Given the description of an element on the screen output the (x, y) to click on. 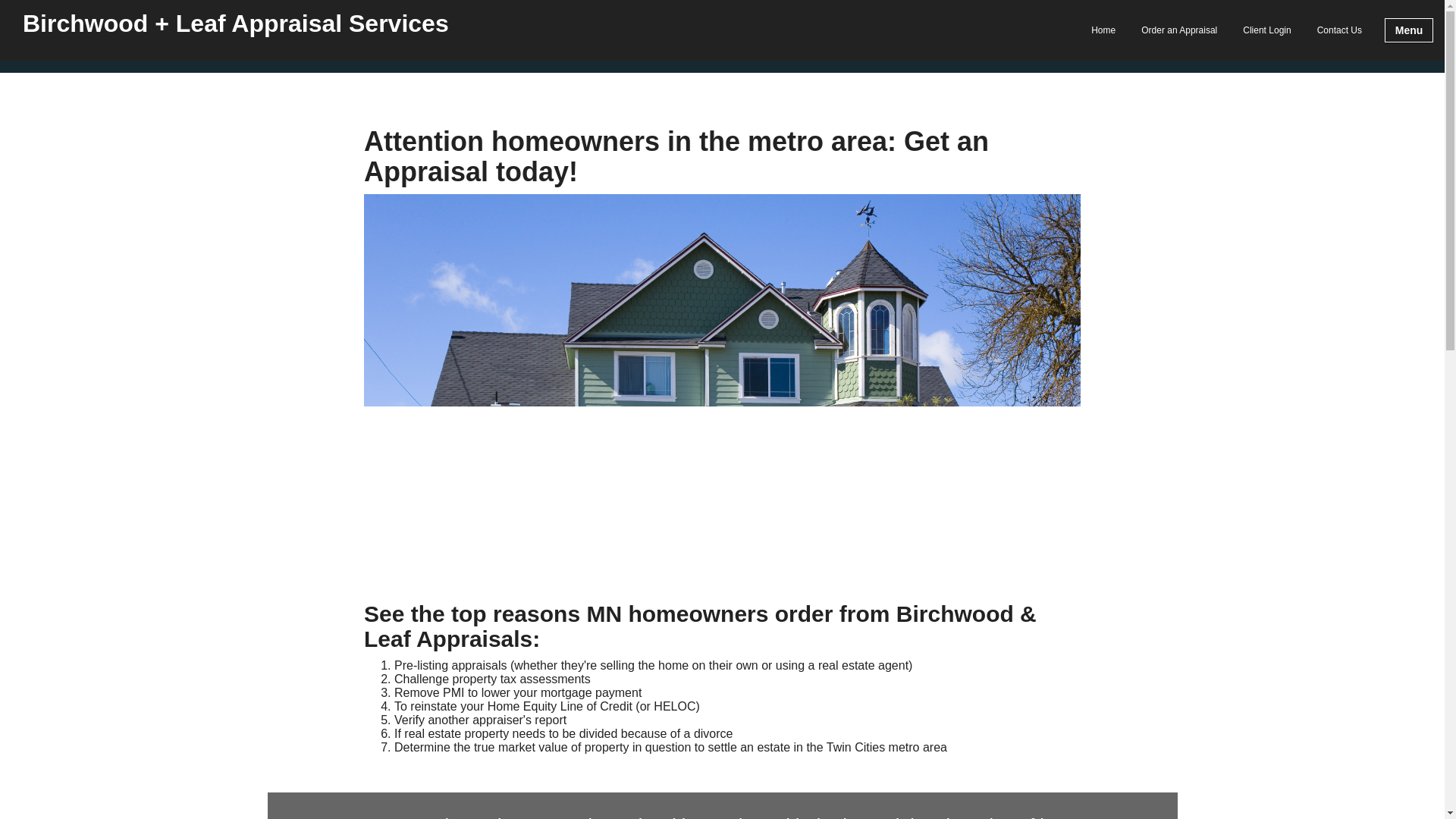
Client Login (1266, 29)
Menu (1408, 30)
Contact Us (1339, 29)
Home (1103, 29)
Order an Appraisal (1178, 29)
